Given the description of an element on the screen output the (x, y) to click on. 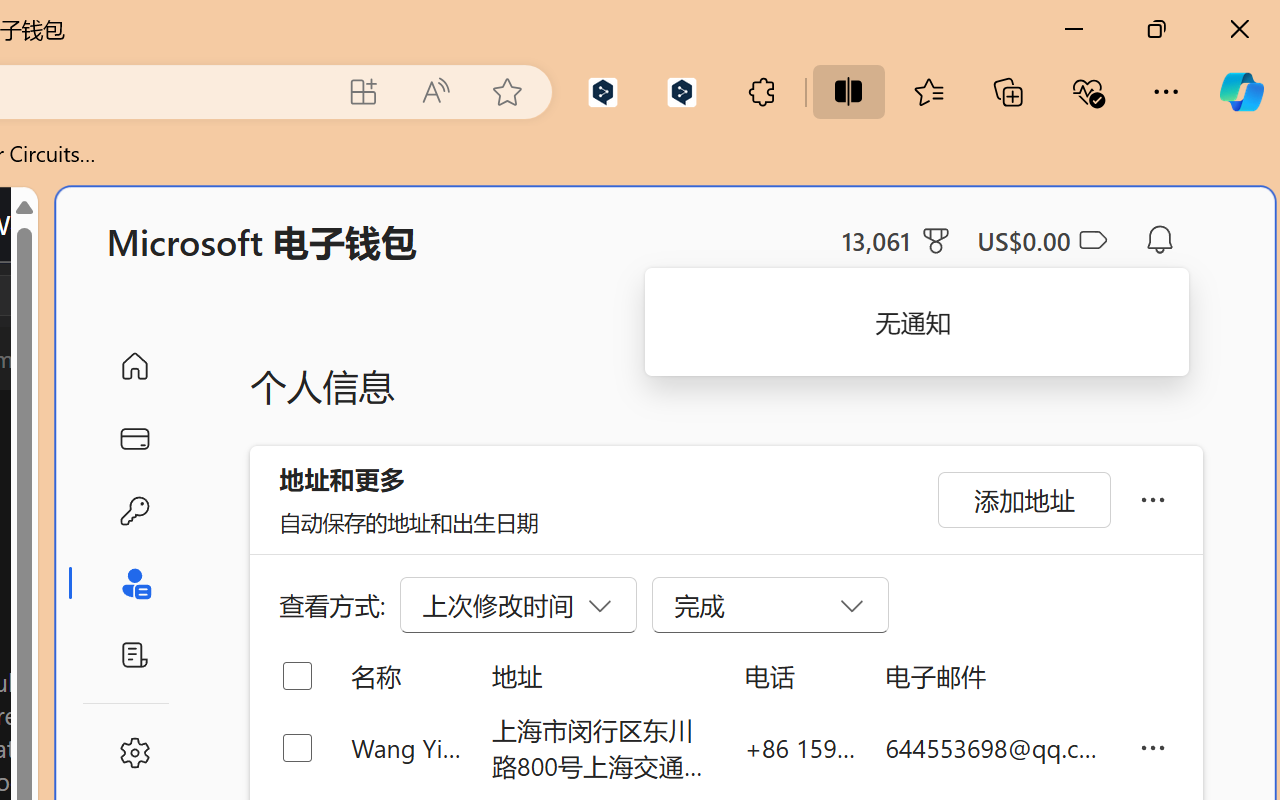
Class: actions-container (94, 295)
Class: ___1lmltc5 f1agt3bx f12qytpq (1092, 241)
